Given the description of an element on the screen output the (x, y) to click on. 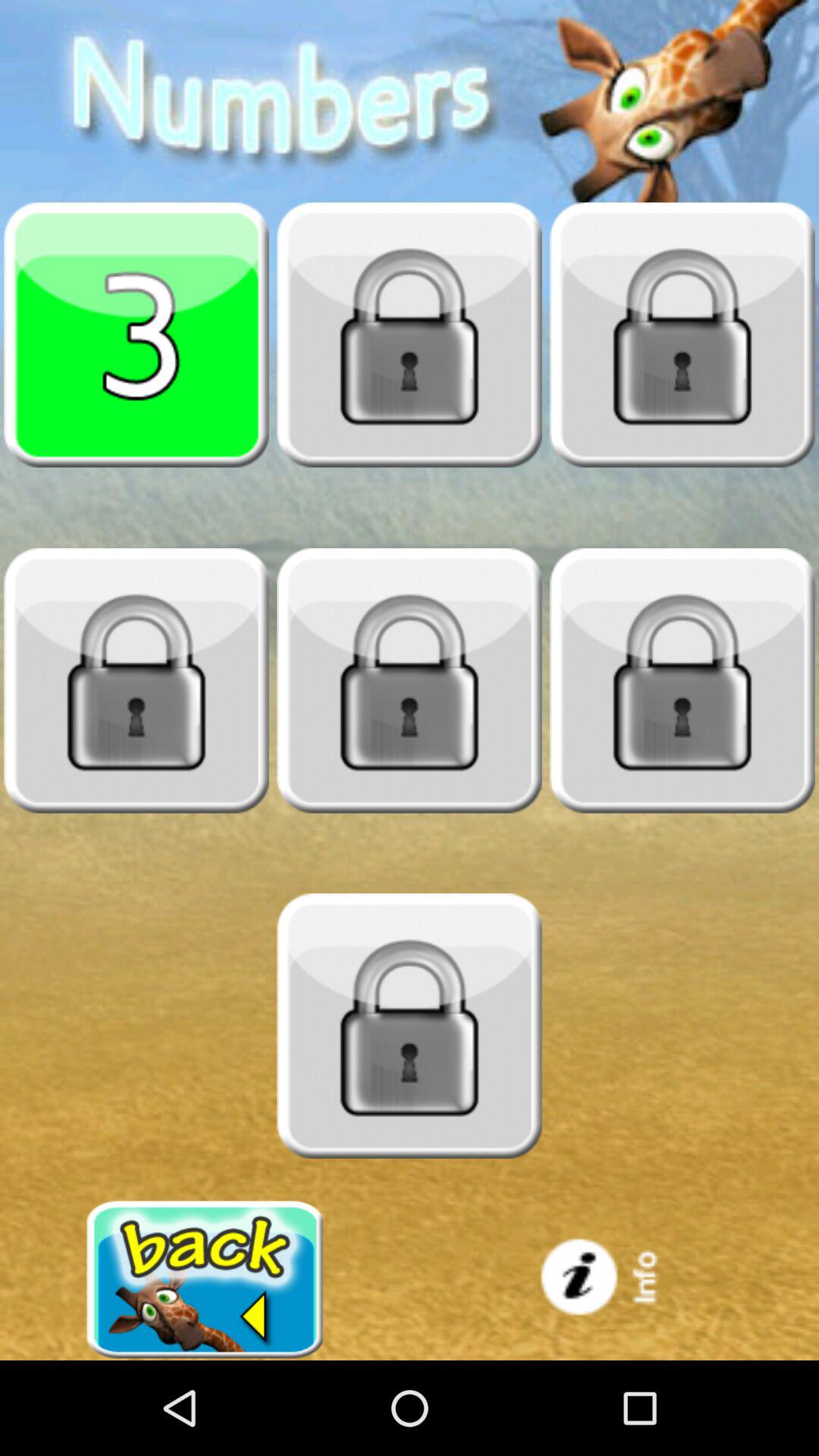
unlock area (409, 1025)
